Given the description of an element on the screen output the (x, y) to click on. 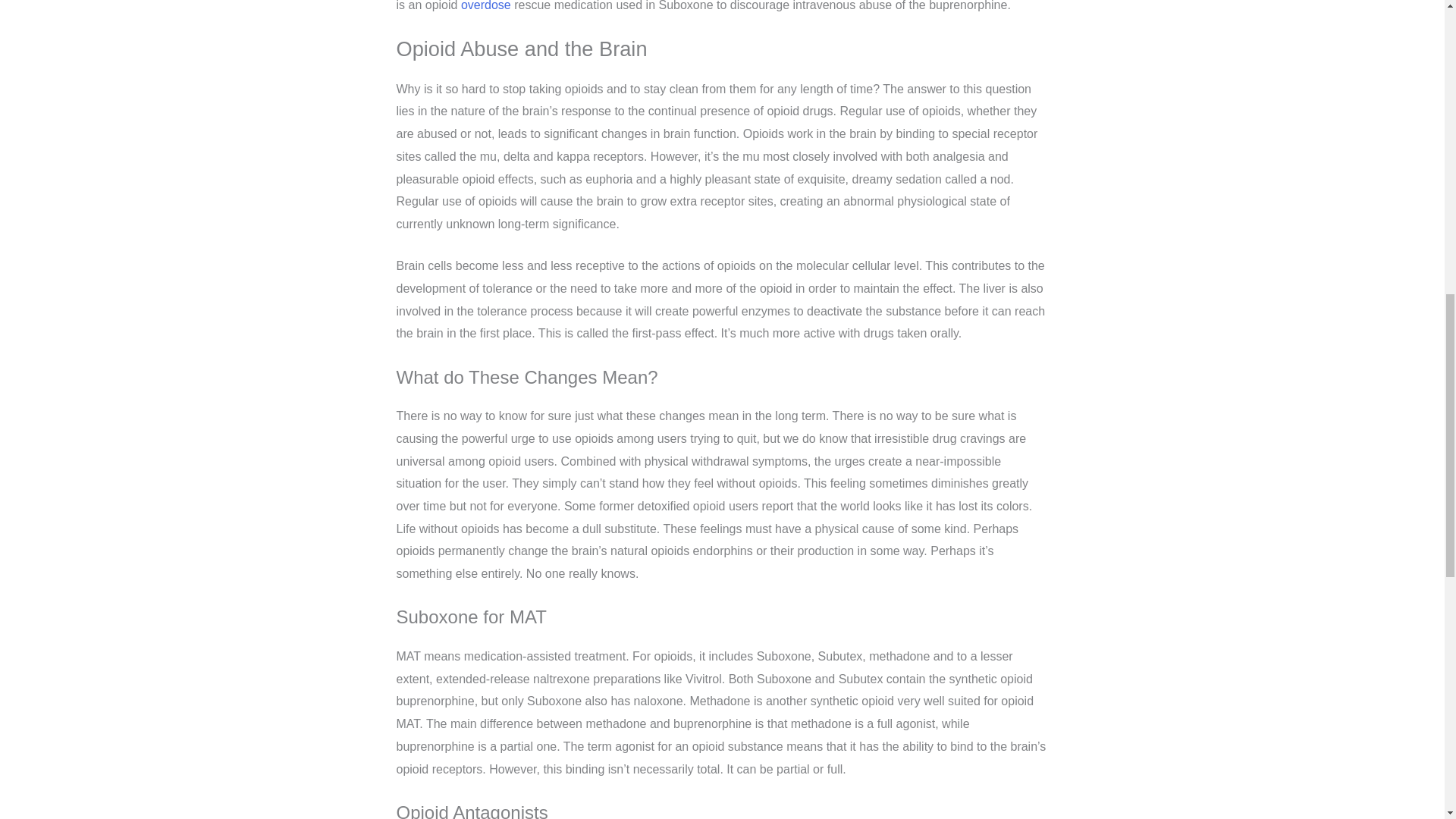
overdose (486, 5)
